Given the description of an element on the screen output the (x, y) to click on. 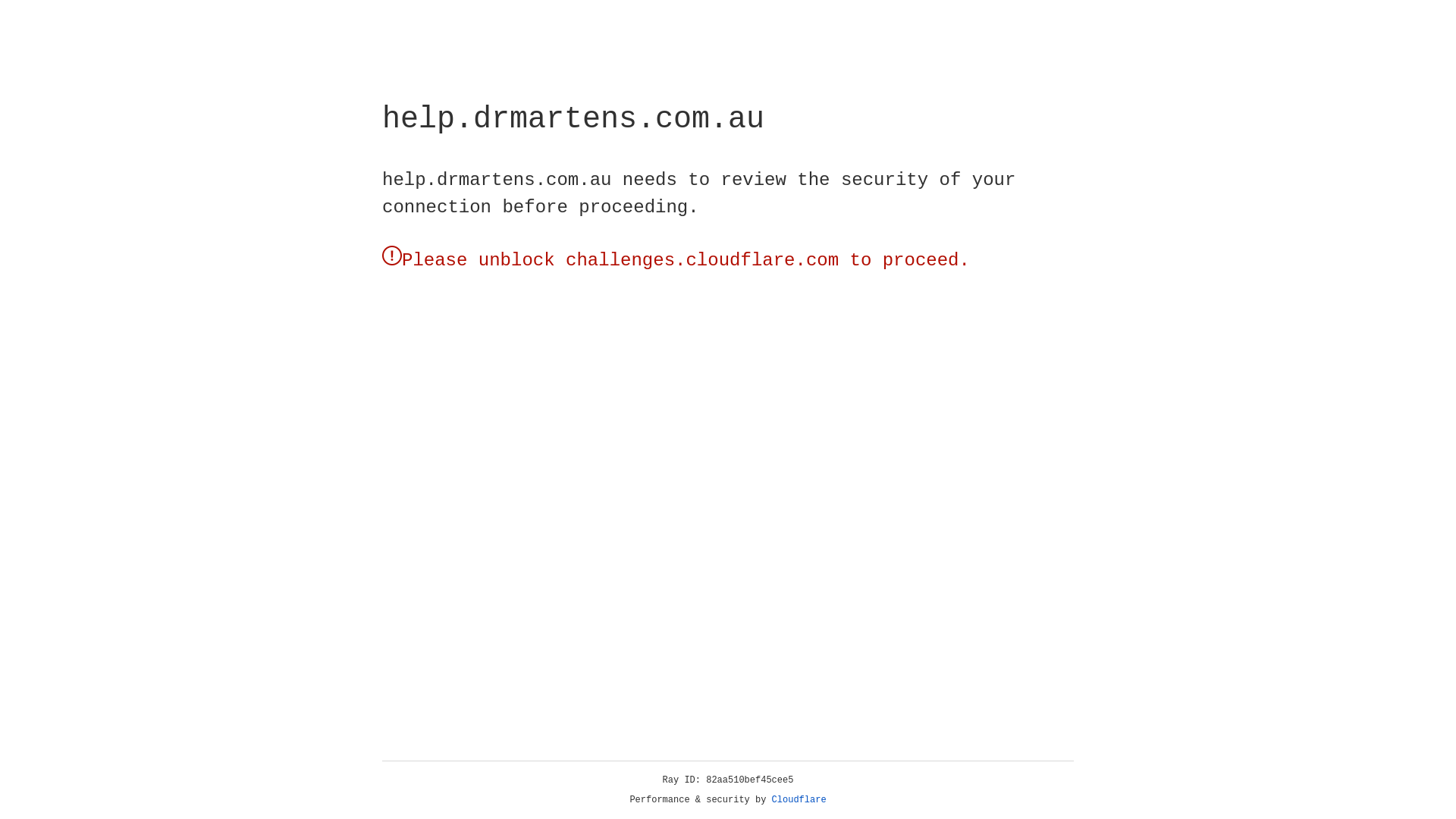
Cloudflare Element type: text (798, 799)
